Given the description of an element on the screen output the (x, y) to click on. 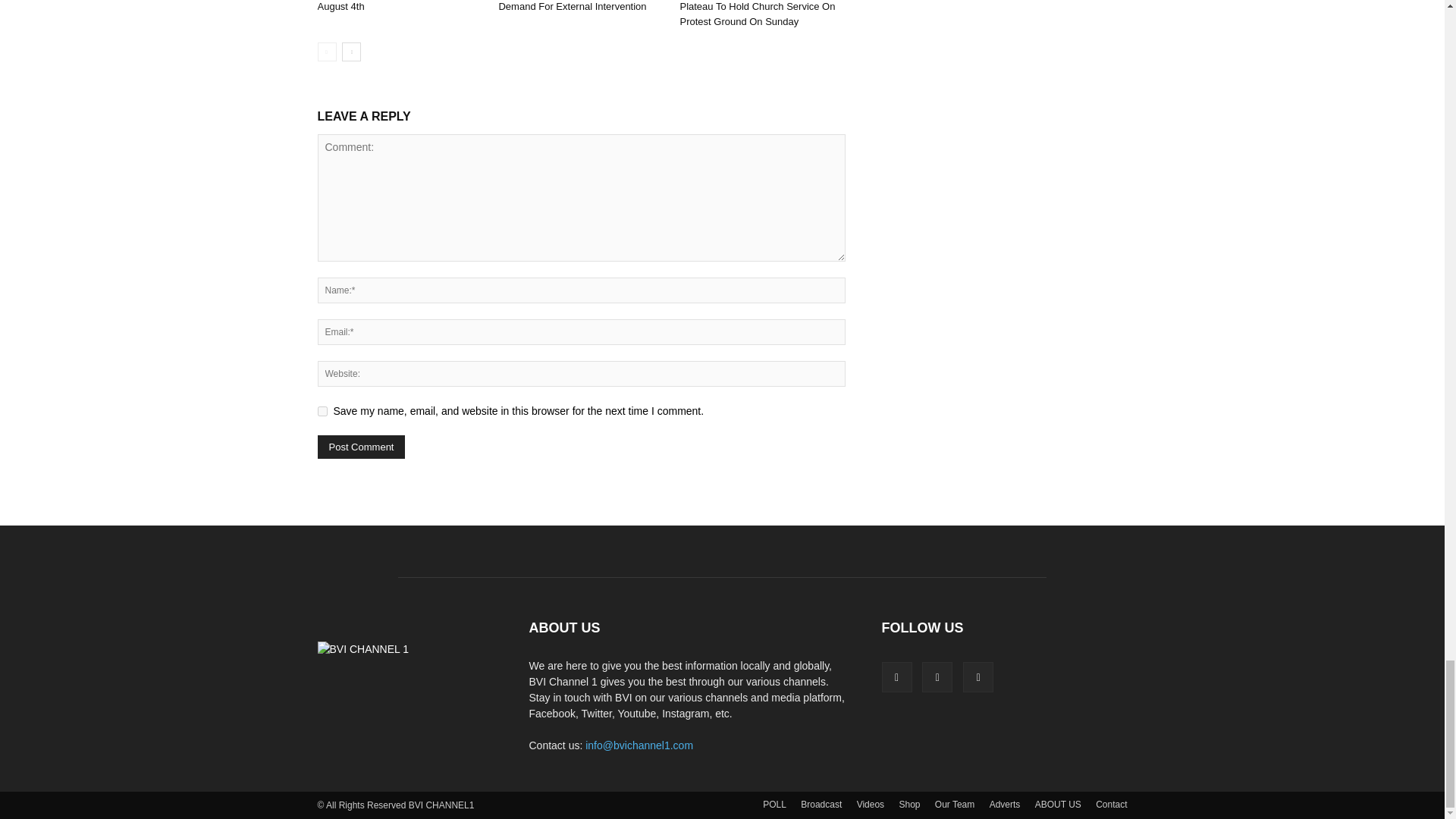
Post Comment (360, 446)
yes (321, 411)
